Given the description of an element on the screen output the (x, y) to click on. 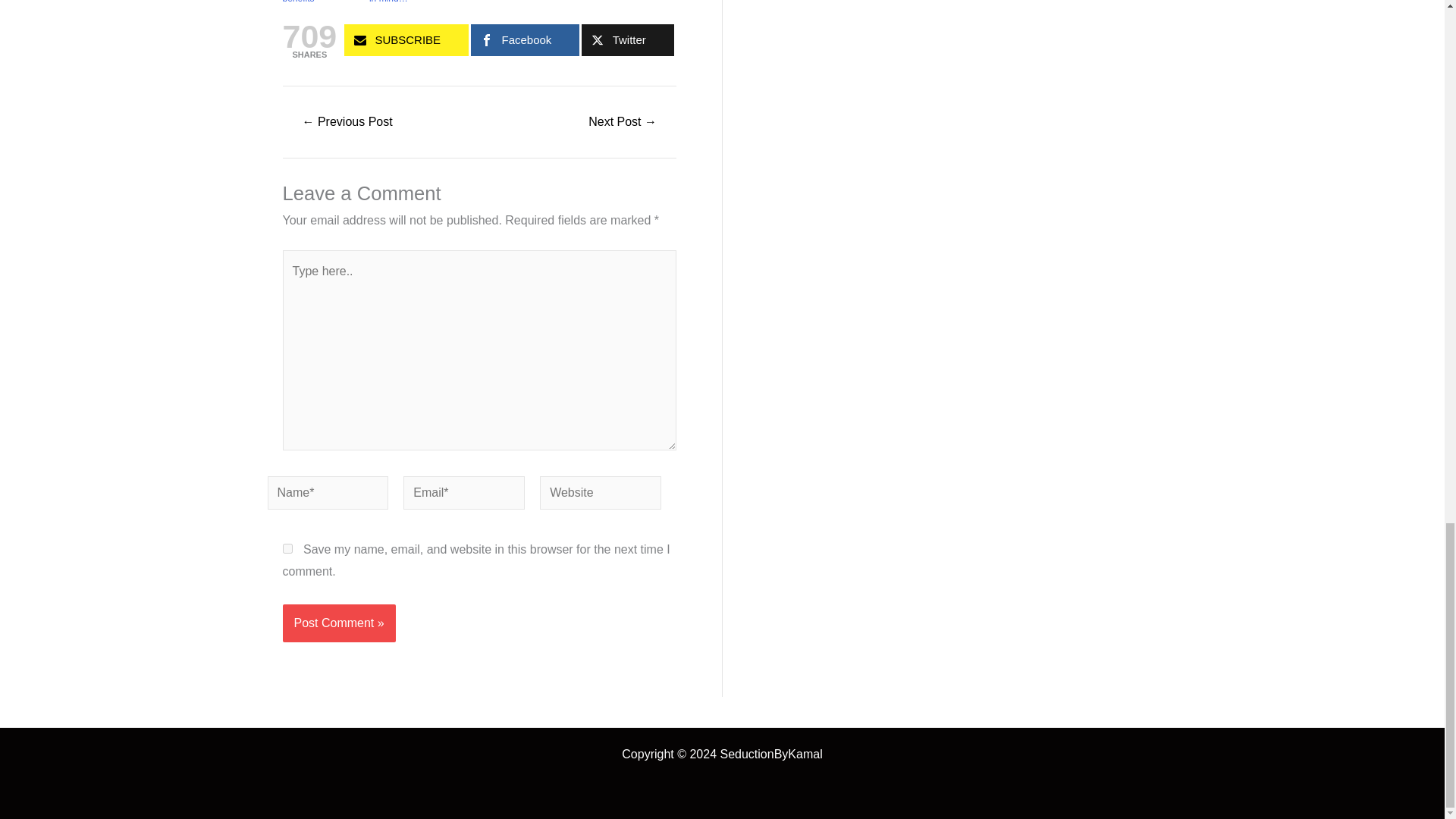
yes (287, 548)
How to Convince your Partner to have Anal Sex (622, 121)
How to Be Better in Bed? (346, 121)
